Given the description of an element on the screen output the (x, y) to click on. 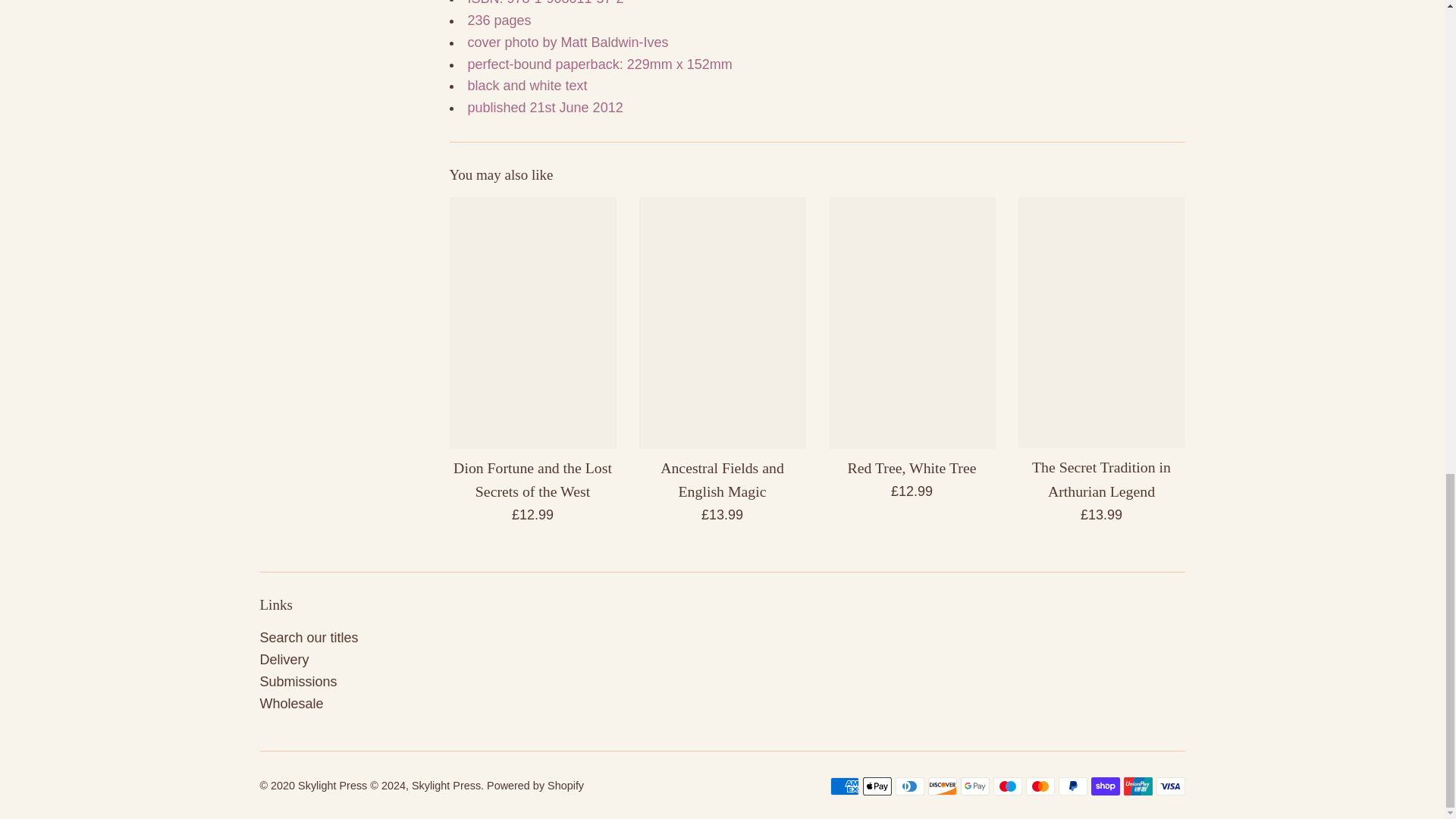
Discover (942, 786)
Diners Club (909, 786)
Shop Pay (1104, 786)
American Express (844, 786)
Google Pay (973, 786)
Maestro (1007, 786)
Apple Pay (877, 786)
Visa (1170, 786)
Union Pay (1138, 786)
Mastercard (1039, 786)
PayPal (1072, 786)
